Given the description of an element on the screen output the (x, y) to click on. 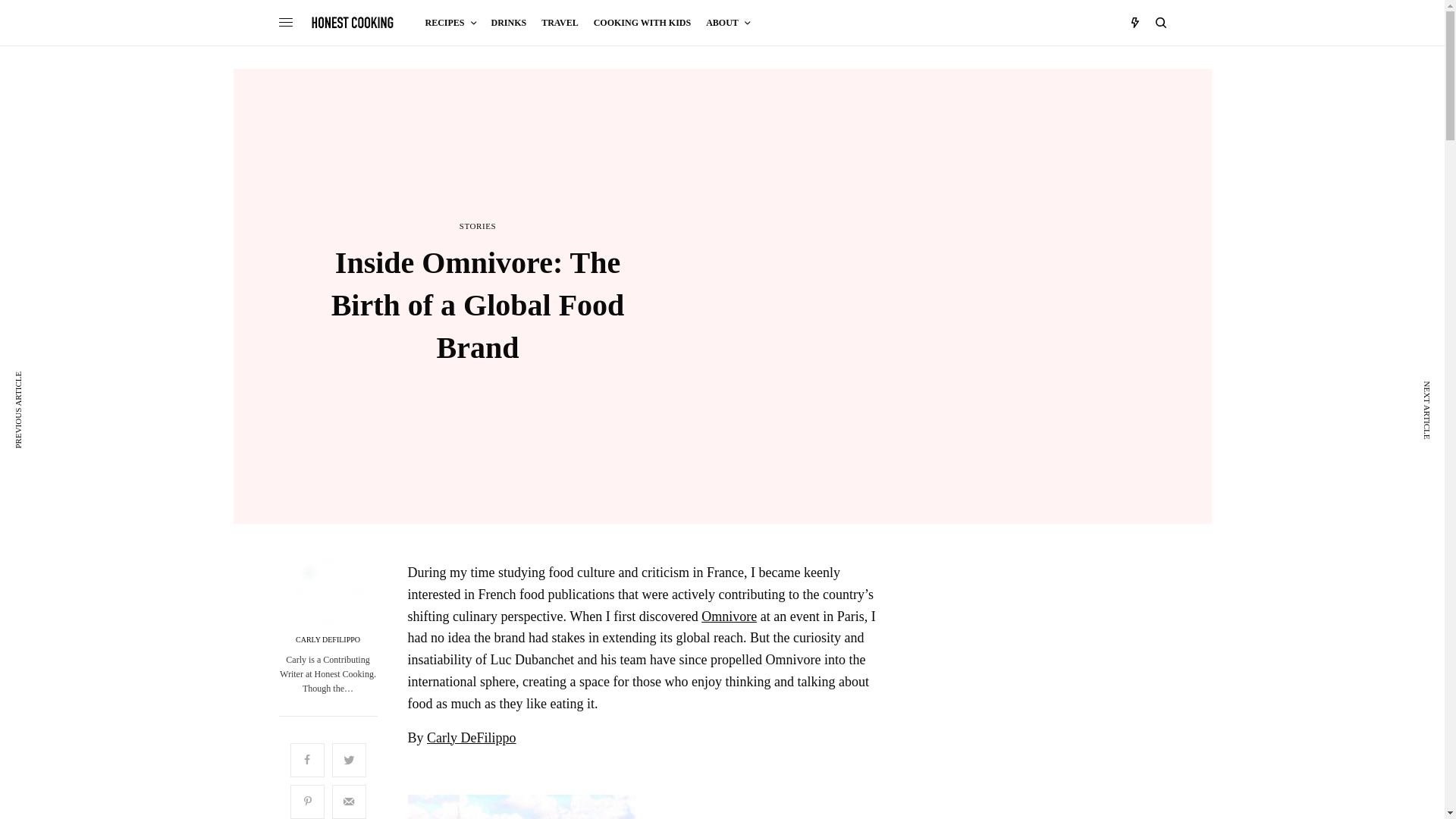
ABOUT (727, 22)
CARLY DEFILIPPO (328, 639)
Honest Cooking (352, 22)
COOKING WITH KIDS (642, 22)
STORIES (478, 225)
RECIPES (450, 22)
